Given the description of an element on the screen output the (x, y) to click on. 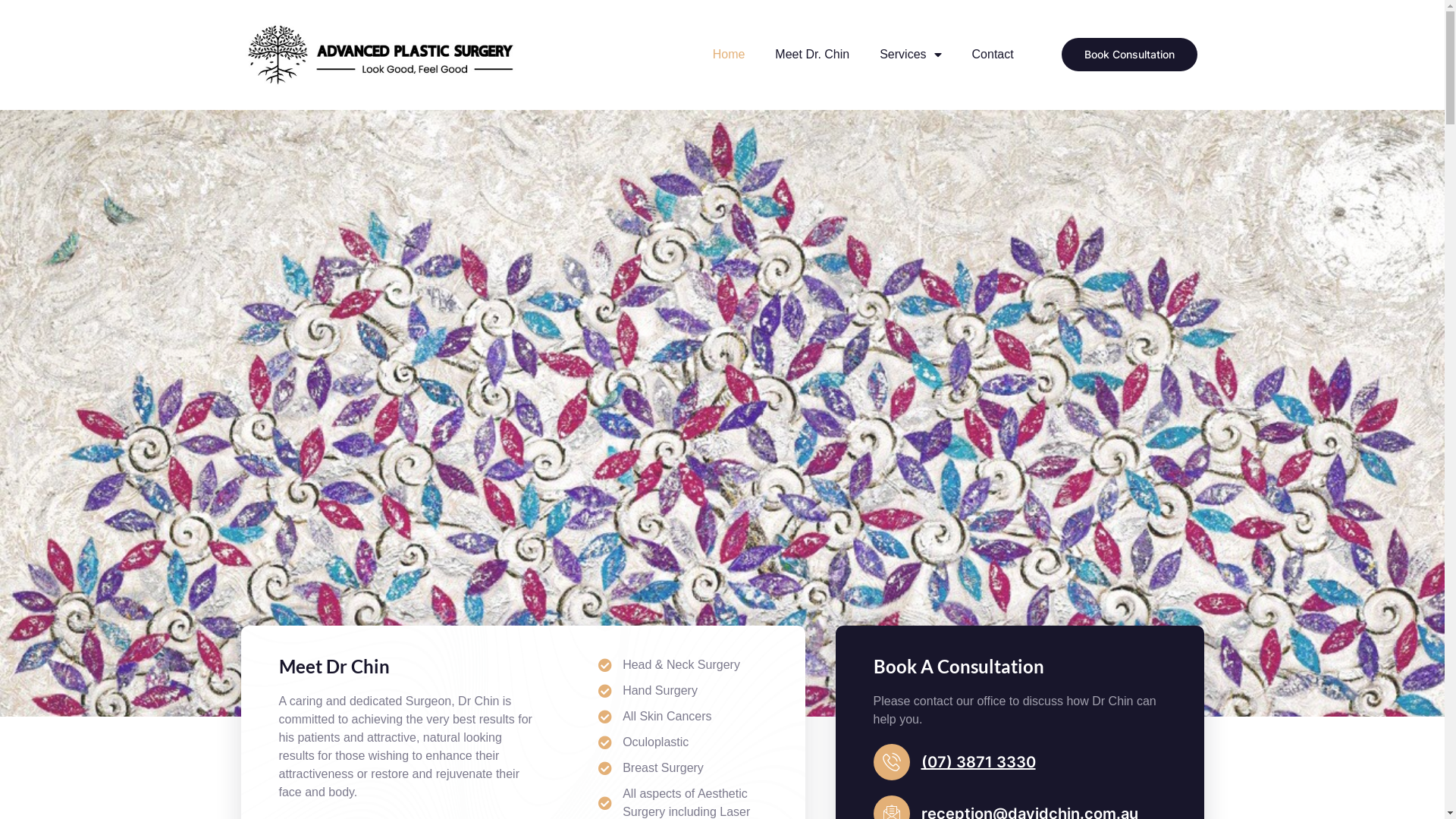
(07) 3871 3330 Element type: text (977, 762)
Home Element type: text (728, 54)
Services Element type: text (910, 54)
Contact Element type: text (993, 54)
Meet Dr. Chin Element type: text (811, 54)
Book Consultation Element type: text (1129, 54)
